Given the description of an element on the screen output the (x, y) to click on. 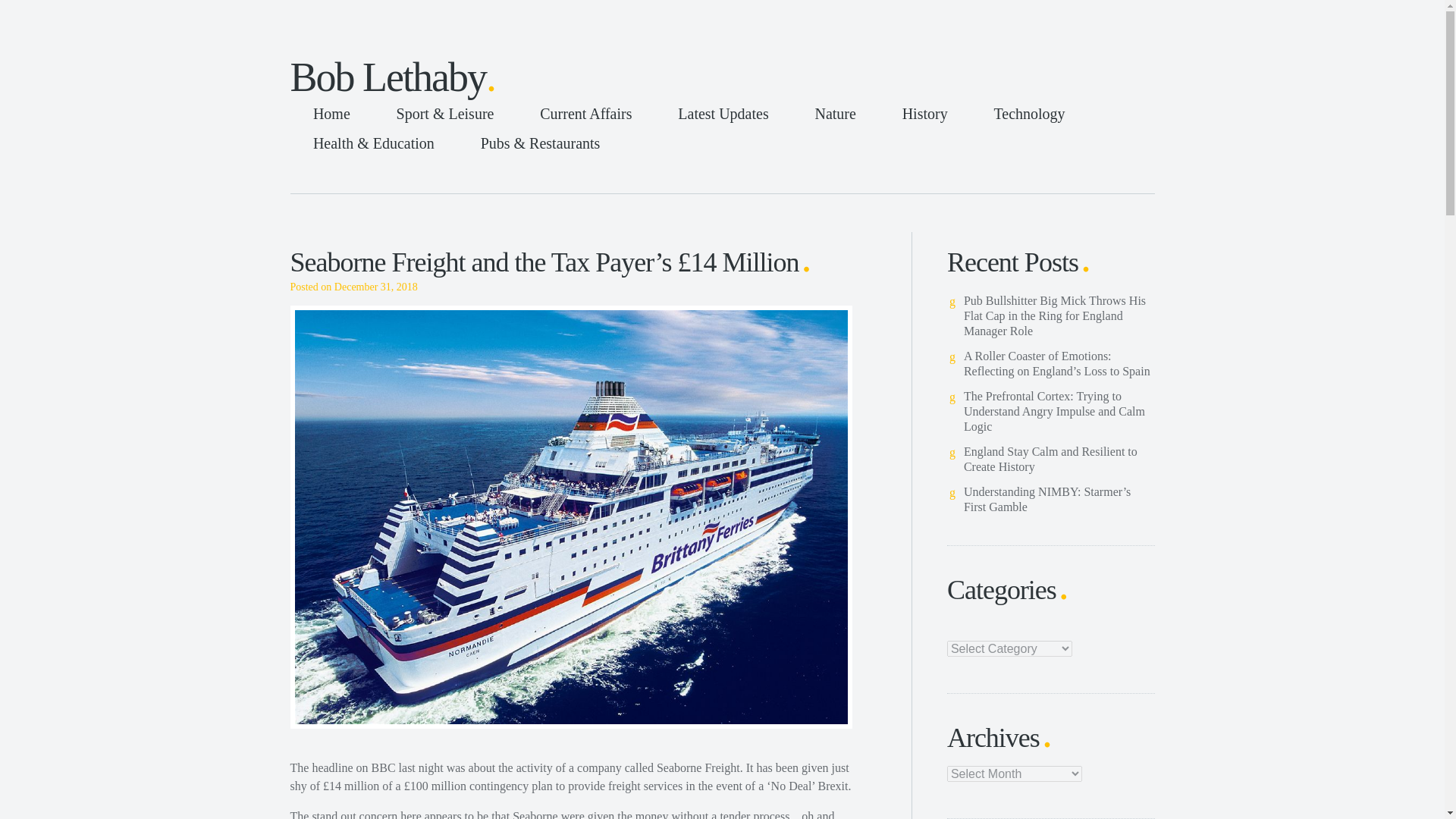
Nature (834, 113)
History (924, 113)
Latest Updates (722, 113)
Home (331, 113)
Bob Lethaby (392, 76)
Technology (1029, 113)
Current Affairs (585, 113)
England Stay Calm and Resilient to Create History (1050, 459)
